Given the description of an element on the screen output the (x, y) to click on. 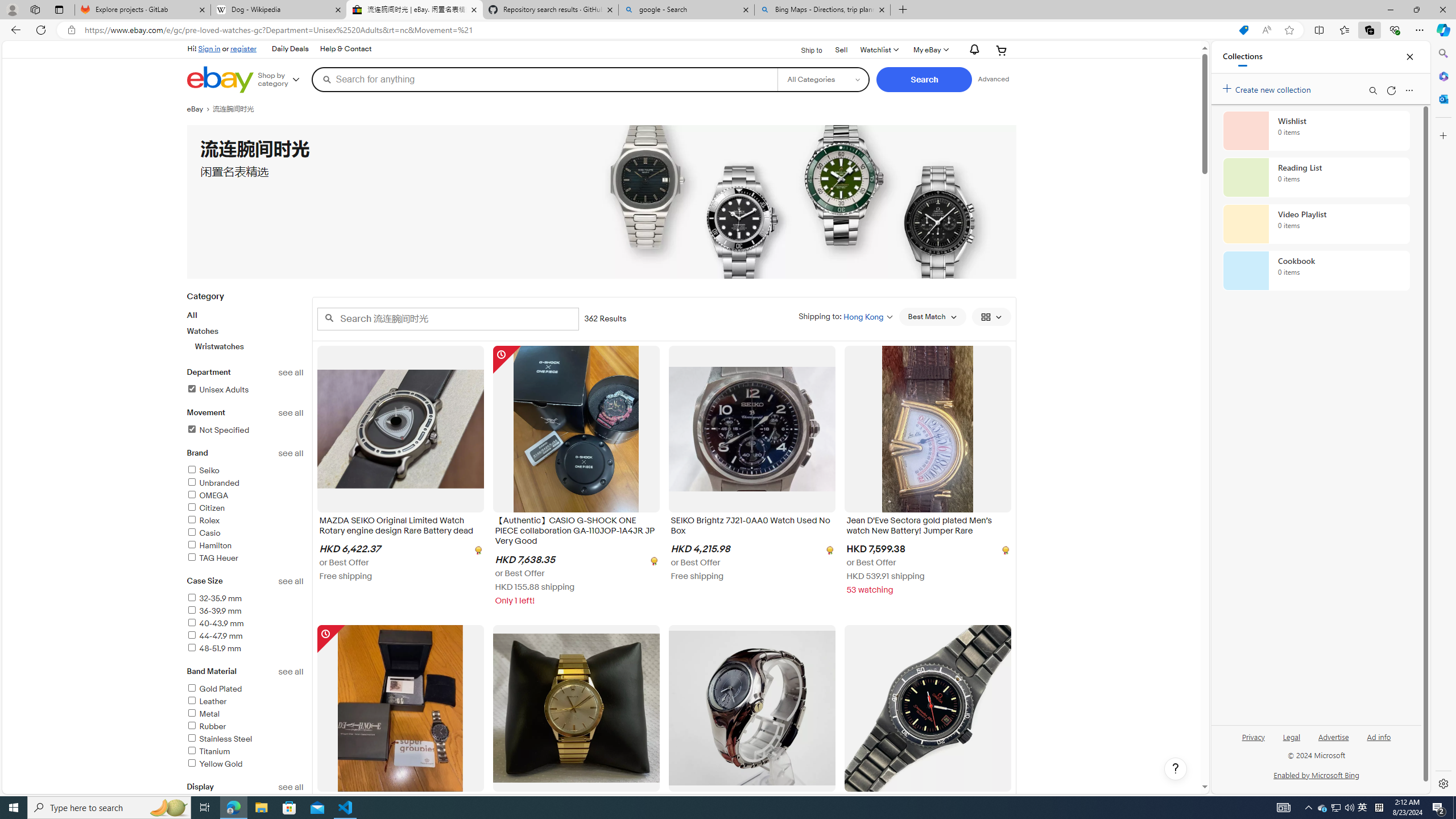
Unisex AdultsFilter Applied (245, 389)
Not SpecifiedFilter Applied (245, 430)
OMEGA (245, 495)
Stainless Steel (245, 739)
Hamilton (208, 545)
Watchlist (878, 49)
Dog - Wikipedia (277, 9)
See all case size refinements (291, 581)
